Given the description of an element on the screen output the (x, y) to click on. 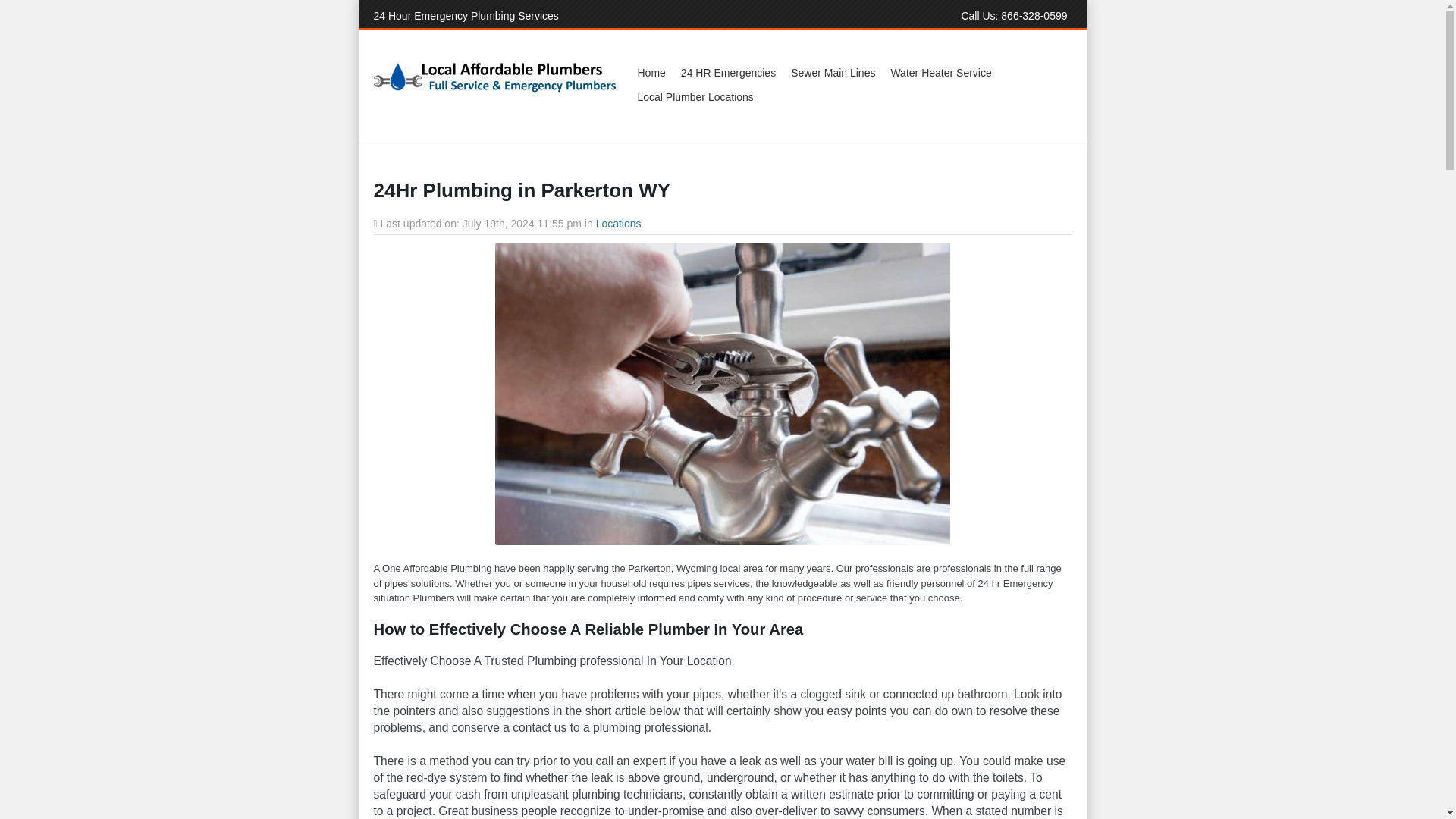
Sewer Main Lines (832, 72)
Home (650, 72)
866-328-0599 (1034, 15)
Water Heater Service (940, 72)
Locations (618, 223)
Local Plumber Locations (694, 96)
24 HR Emergencies (728, 72)
